Given the description of an element on the screen output the (x, y) to click on. 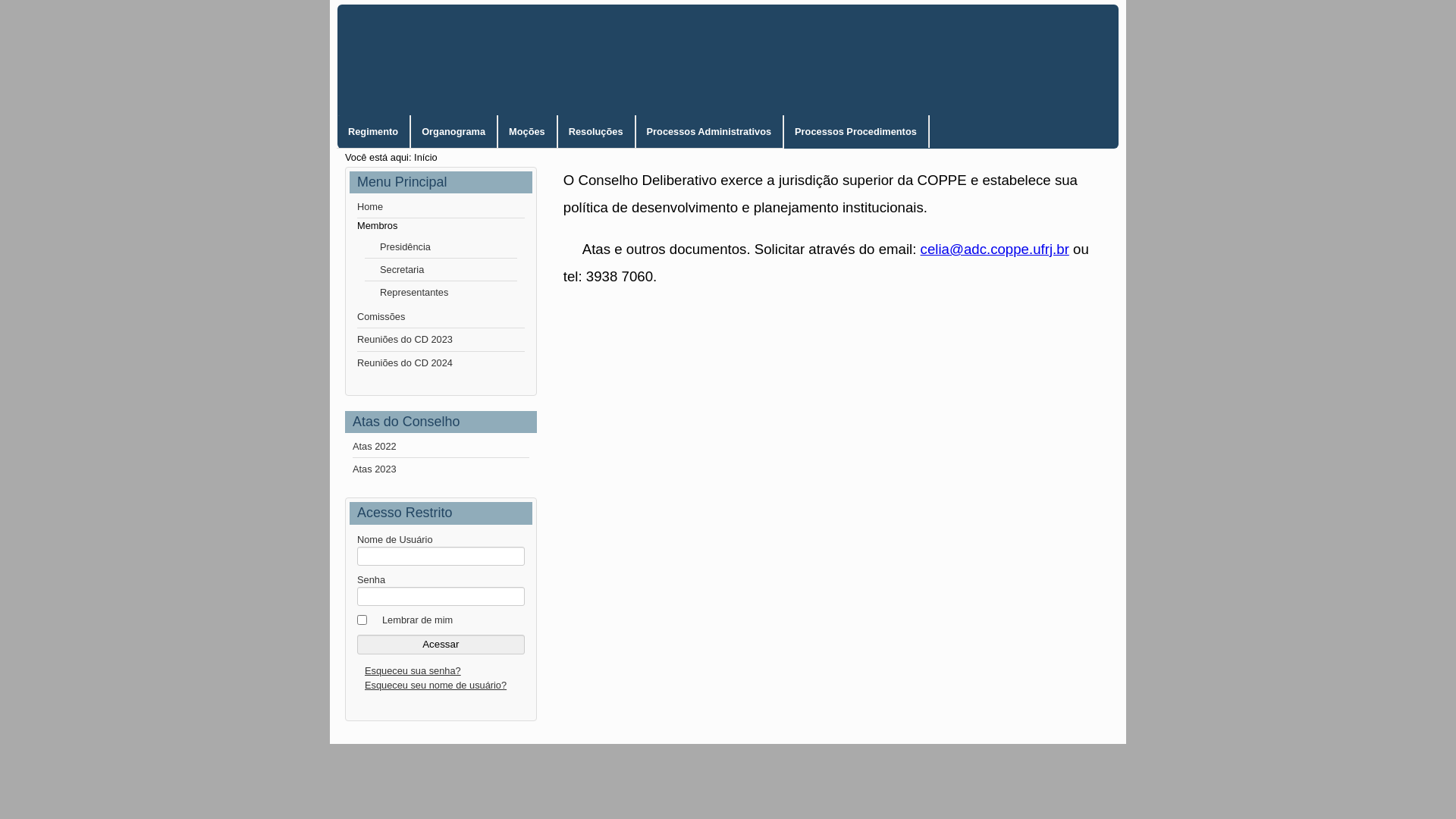
Organograma Element type: text (453, 131)
Regimento Element type: text (373, 131)
Atas 2022 Element type: text (440, 446)
Representantes Element type: text (440, 292)
Secretaria Element type: text (440, 269)
Processos Administrativos Element type: text (709, 131)
Acessar Element type: text (440, 644)
Esqueceu sua senha? Element type: text (412, 670)
celia@adc.coppe.ufrj.br Element type: text (994, 249)
Home Element type: text (440, 206)
Processos Procedimentos Element type: text (855, 131)
Atas 2023 Element type: text (440, 469)
